Given the description of an element on the screen output the (x, y) to click on. 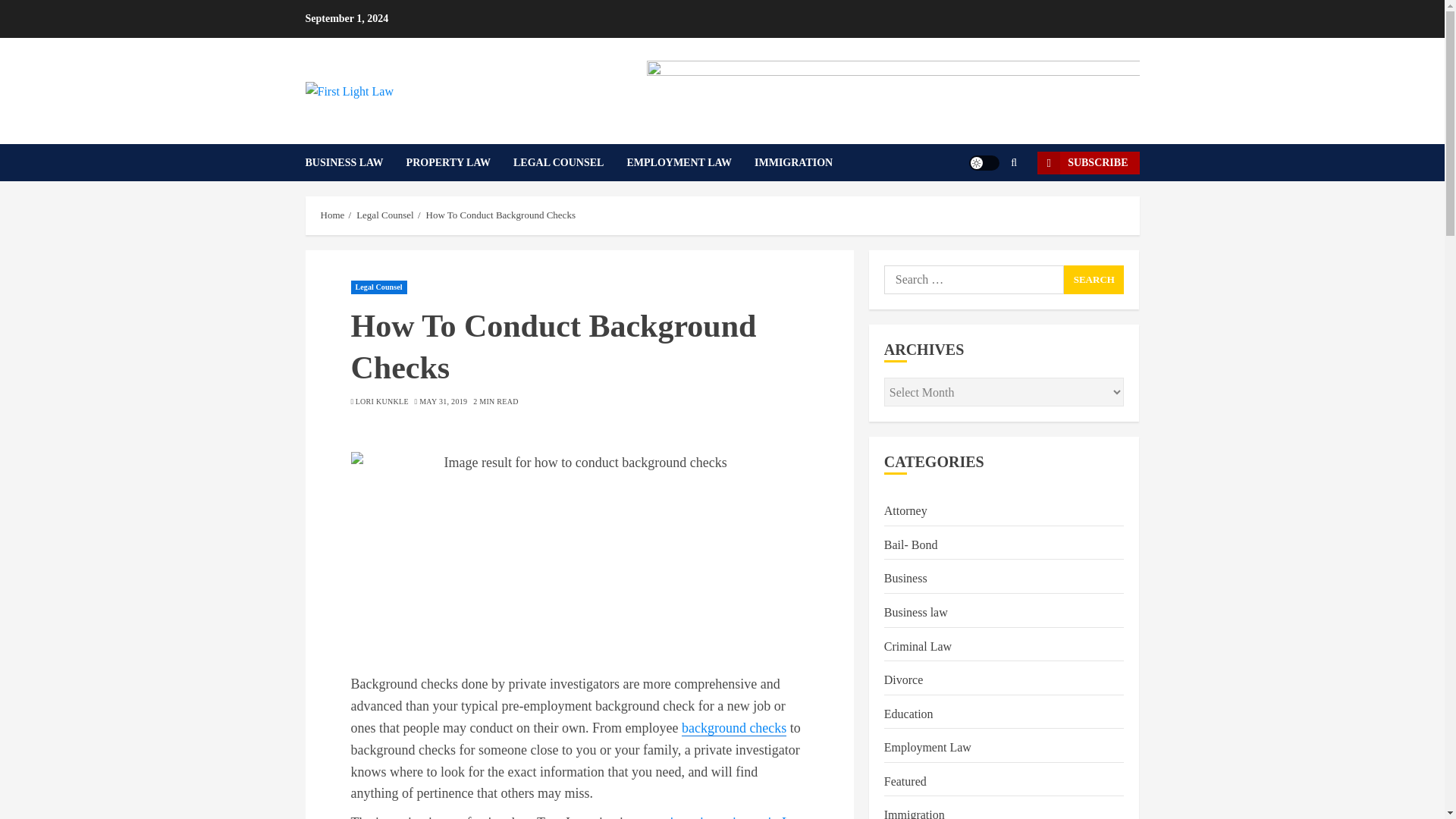
Search (990, 208)
Business law (915, 612)
Search (1094, 279)
Search (1094, 279)
Employment Law (927, 747)
Search (1094, 279)
IMMIGRATION (793, 162)
How To Conduct Background Checks (500, 215)
Attorney (905, 511)
Bail- Bond (910, 545)
